Given the description of an element on the screen output the (x, y) to click on. 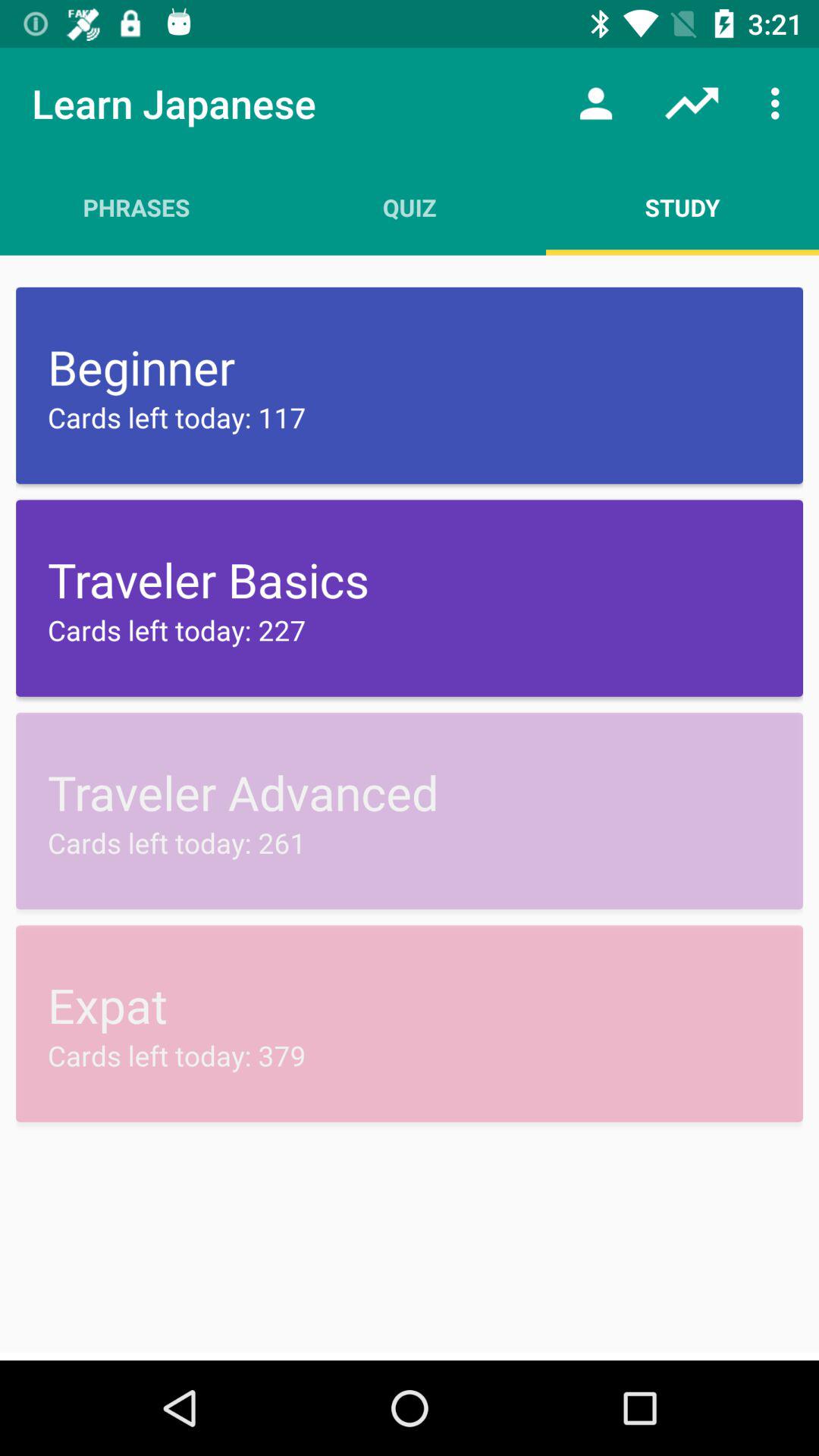
turn on the study icon (682, 207)
